Given the description of an element on the screen output the (x, y) to click on. 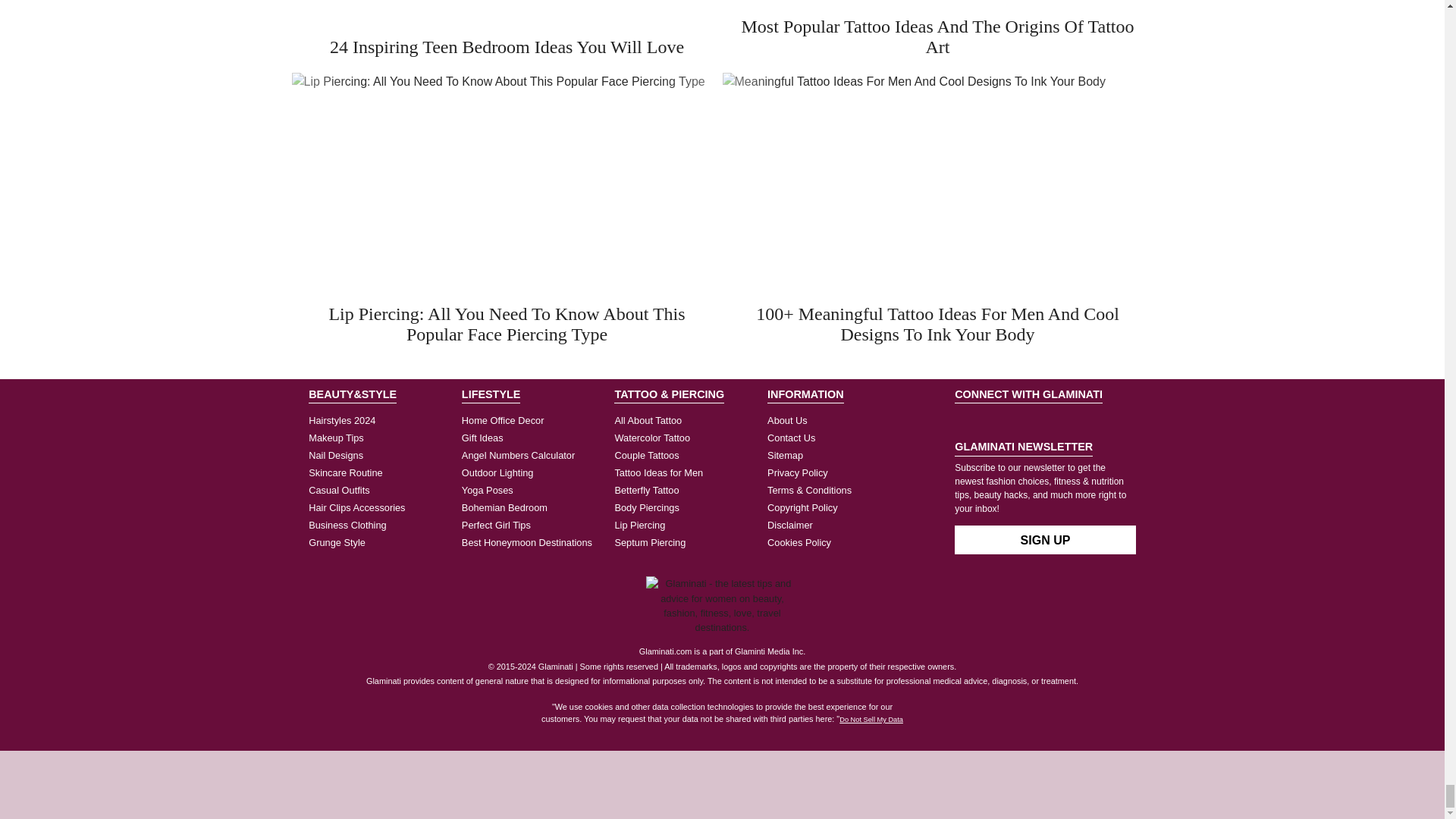
Sign Up (1045, 539)
